Given the description of an element on the screen output the (x, y) to click on. 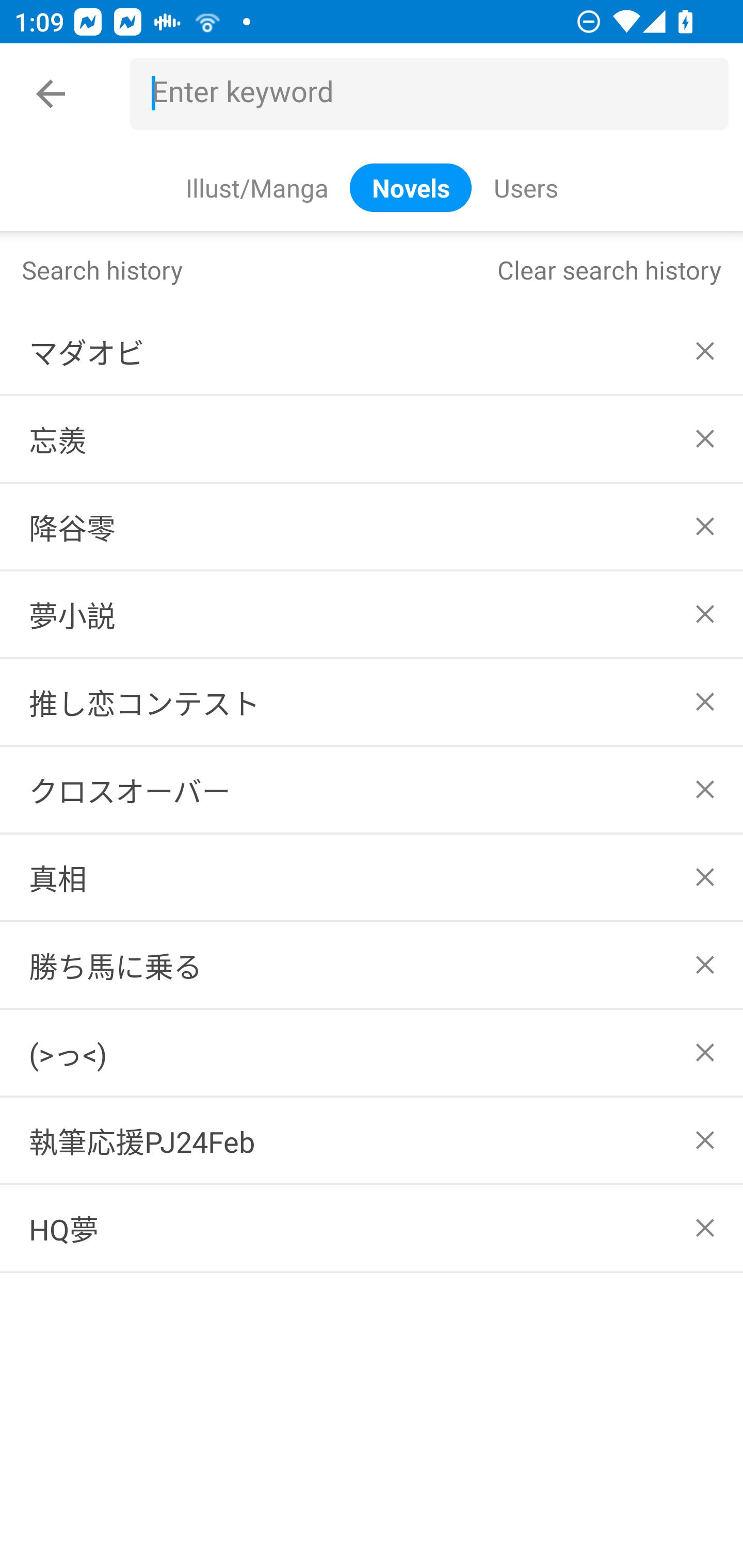
Navigate up (50, 93)
Enter keyword (436, 94)
Illust/Manga (256, 187)
Novels (410, 187)
Users (525, 187)
Clear search history (609, 269)
マダオビ (371, 350)
忘羨 (371, 438)
降谷零 (371, 526)
夢小説 (371, 613)
推し恋コンテスト (371, 701)
クロスオーバー (371, 789)
真相 (371, 877)
勝ち馬に乗る (371, 964)
(>っ<) (371, 1052)
執筆応援PJ24Feb (371, 1140)
HQ夢 (371, 1228)
